Given the description of an element on the screen output the (x, y) to click on. 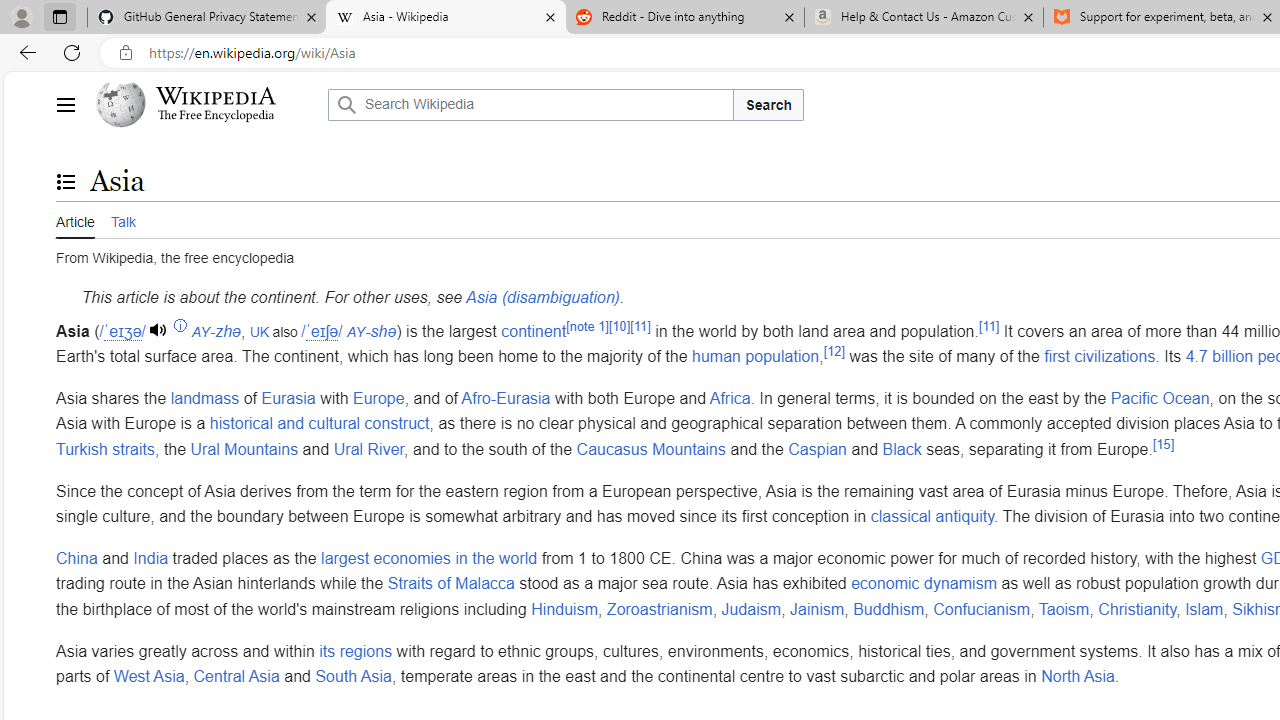
Eurasia (288, 397)
Afro-Eurasia (505, 397)
Search Wikipedia (530, 104)
Asia (disambiguation) (542, 297)
Turkish straits (105, 448)
Toggle the table of contents (65, 181)
Wikipedia The Free Encyclopedia (206, 104)
continent (533, 330)
India (150, 557)
West Asia (148, 677)
Ural River (368, 448)
Pacific Ocean (1159, 397)
Caspian (817, 448)
[note 1] (587, 326)
